Given the description of an element on the screen output the (x, y) to click on. 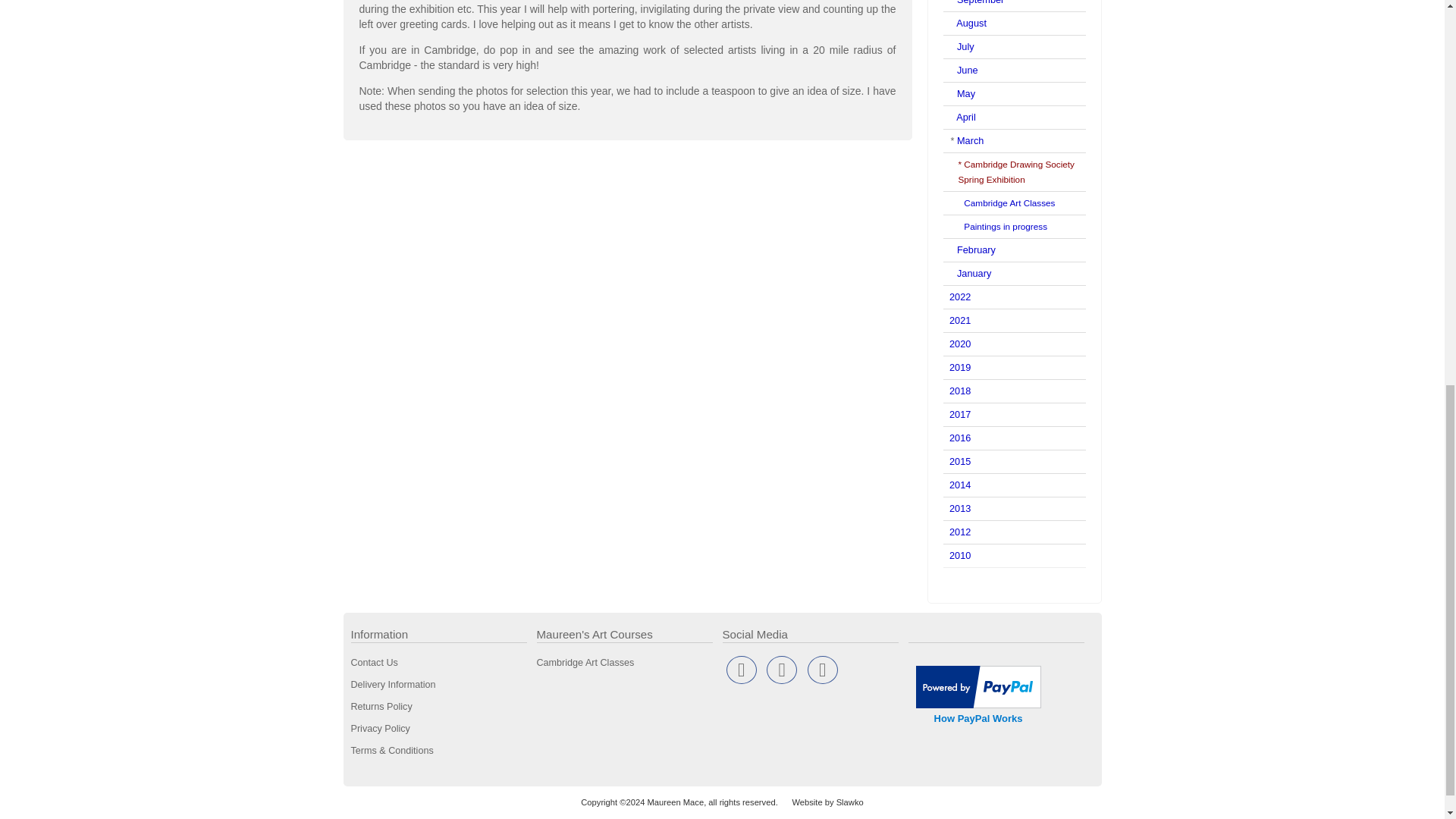
Maureen Mace Art on Twitter (781, 669)
Maureen Mace Art on Facebook (741, 669)
Maureen Mace Art on Instagram (821, 669)
How PayPal Works (978, 705)
September (980, 2)
